Given the description of an element on the screen output the (x, y) to click on. 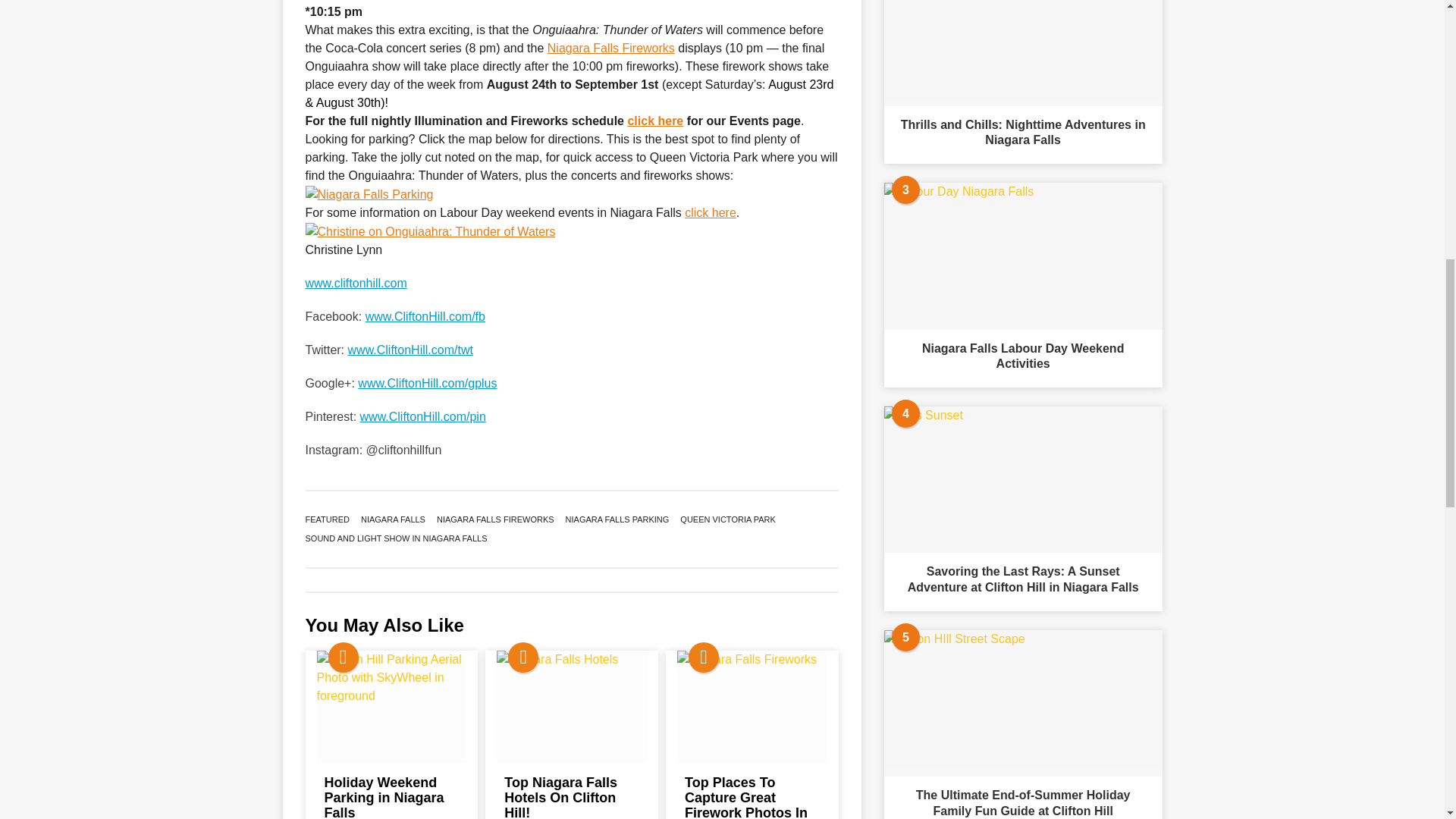
Trending (523, 657)
Trending (703, 657)
Holiday Weekend Parking in Niagara Falls (392, 706)
Niagara Falls events (654, 120)
Niagara Falls fireworks (611, 47)
Niagara Falls Fun on Clifton Hill (355, 282)
Top Niagara Falls Hotels On Clifton Hill! (571, 706)
Labour Day in Niagara Falls (710, 212)
Hot (342, 657)
